Given the description of an element on the screen output the (x, y) to click on. 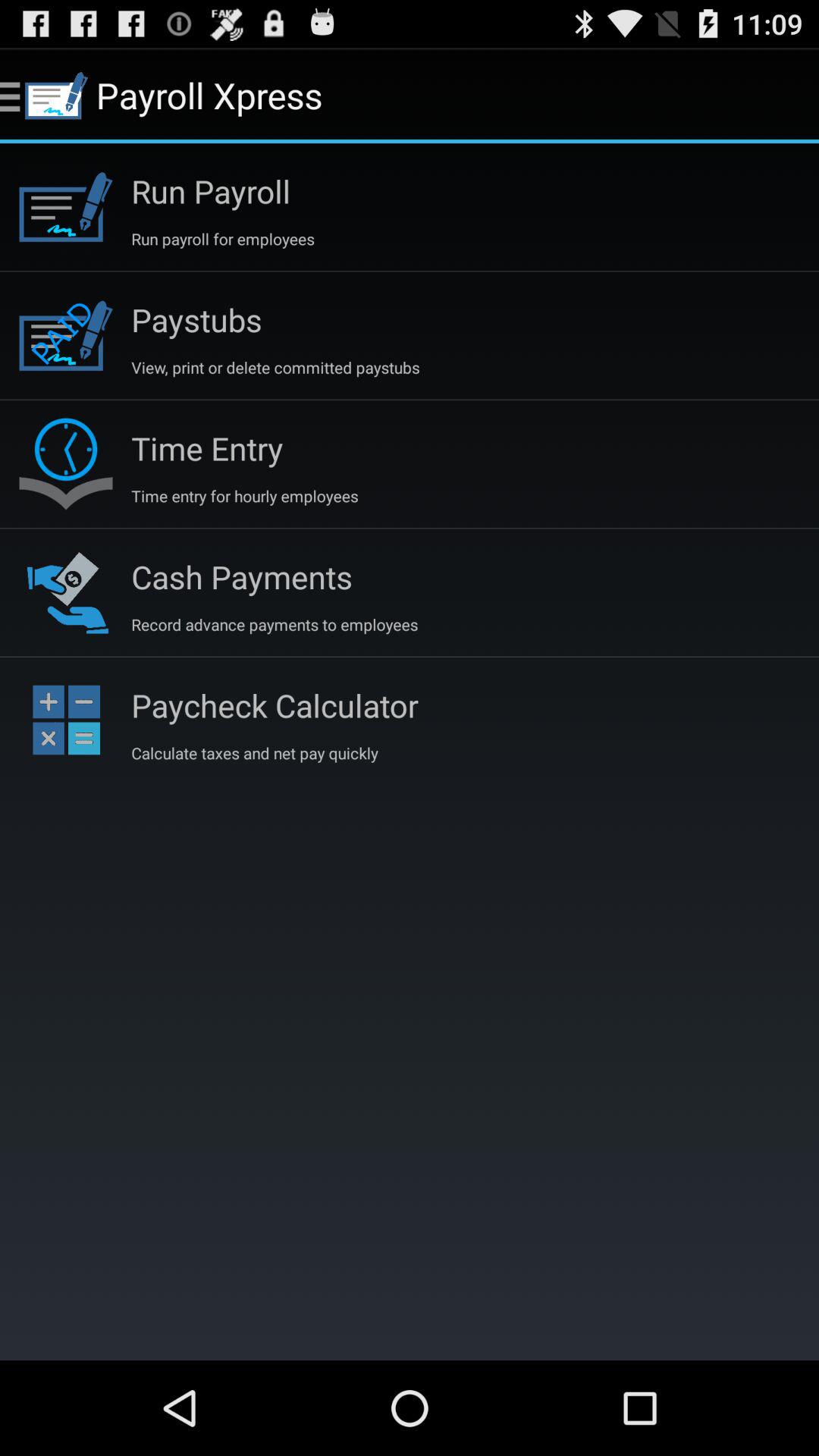
click the icon above the record advance payments item (241, 576)
